Given the description of an element on the screen output the (x, y) to click on. 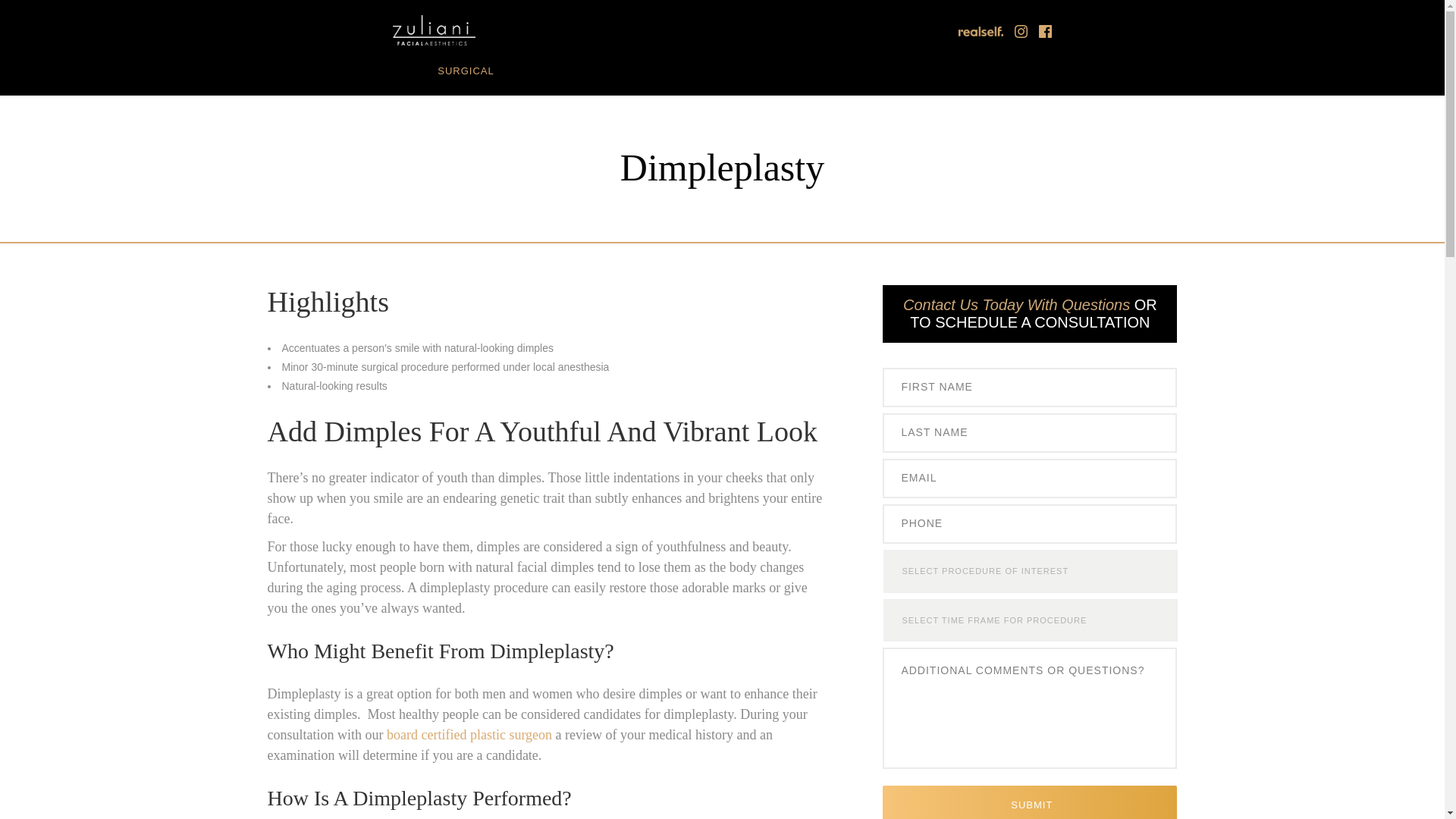
ABOUT (382, 70)
SURGICAL (465, 70)
HOME (310, 70)
NON-SURGICAL (572, 70)
Submit (1029, 802)
